Given the description of an element on the screen output the (x, y) to click on. 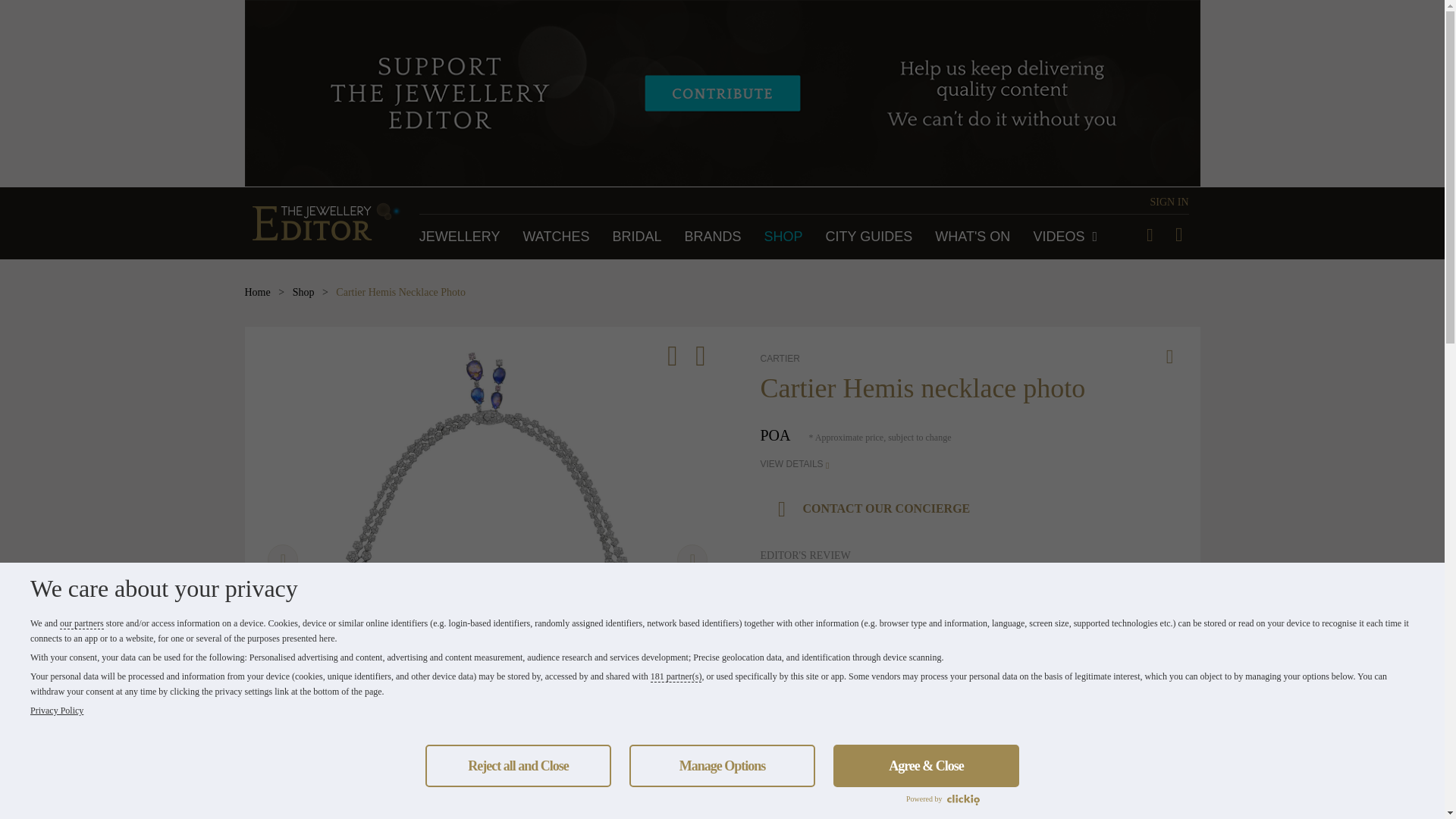
Go to What's On (972, 236)
VIDEOS   (1064, 236)
SIGN IN (1169, 202)
Go to Watches (555, 236)
Home (256, 292)
Go to City Guides (868, 236)
WHAT'S ON (972, 236)
BRIDAL (636, 236)
Videos (1064, 236)
SHOP (783, 236)
WATCHES (555, 236)
JEWELLERY (459, 236)
Go to Bridal (636, 236)
Go to Jewellery (459, 236)
Shop (303, 292)
